Given the description of an element on the screen output the (x, y) to click on. 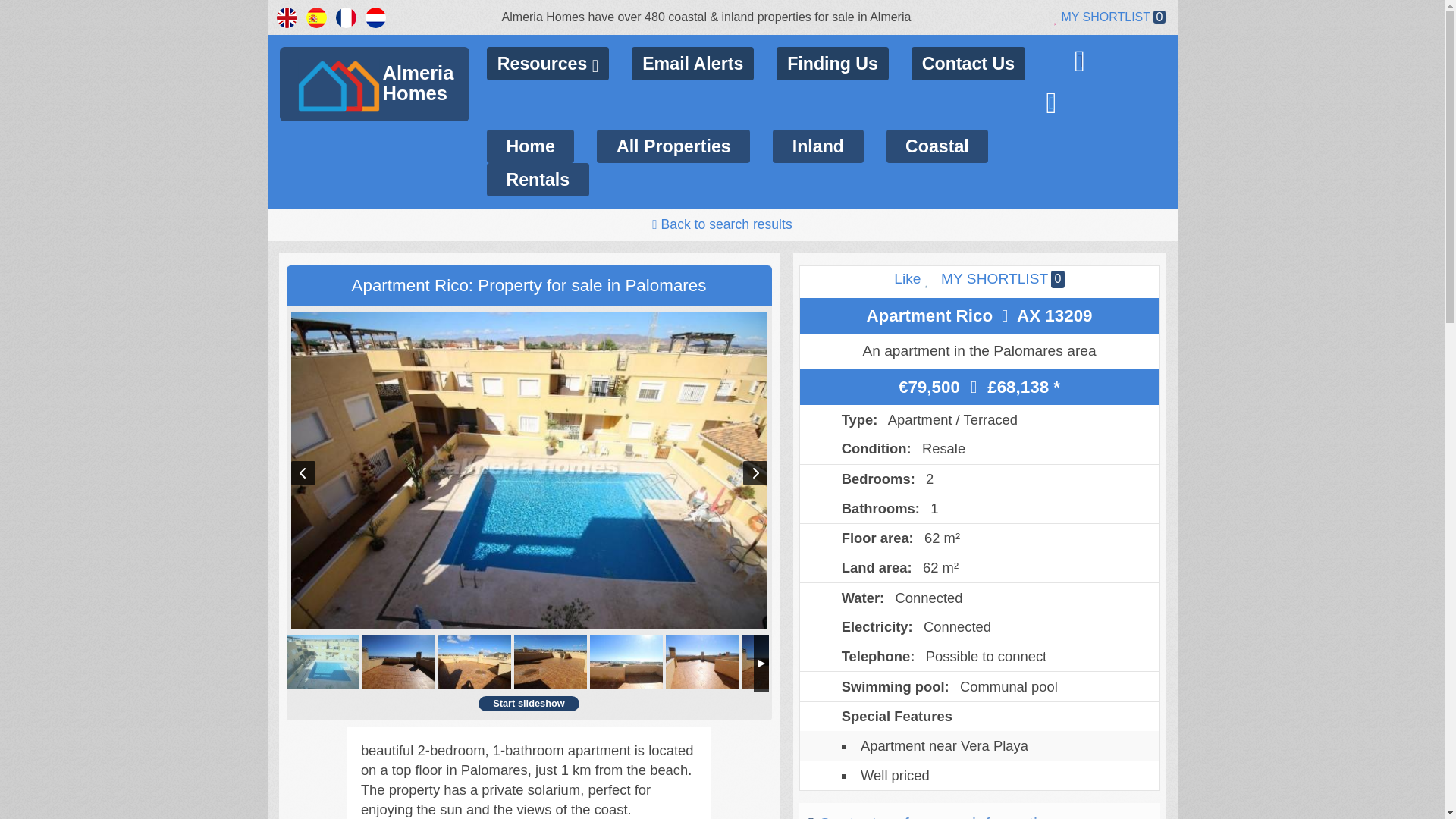
Home (529, 145)
Contact Us (968, 63)
English (286, 17)
MY SHORTLIST0 (1002, 278)
Finding Us (832, 63)
Inland (379, 86)
Email Alerts (818, 145)
Resources (692, 63)
